Given the description of an element on the screen output the (x, y) to click on. 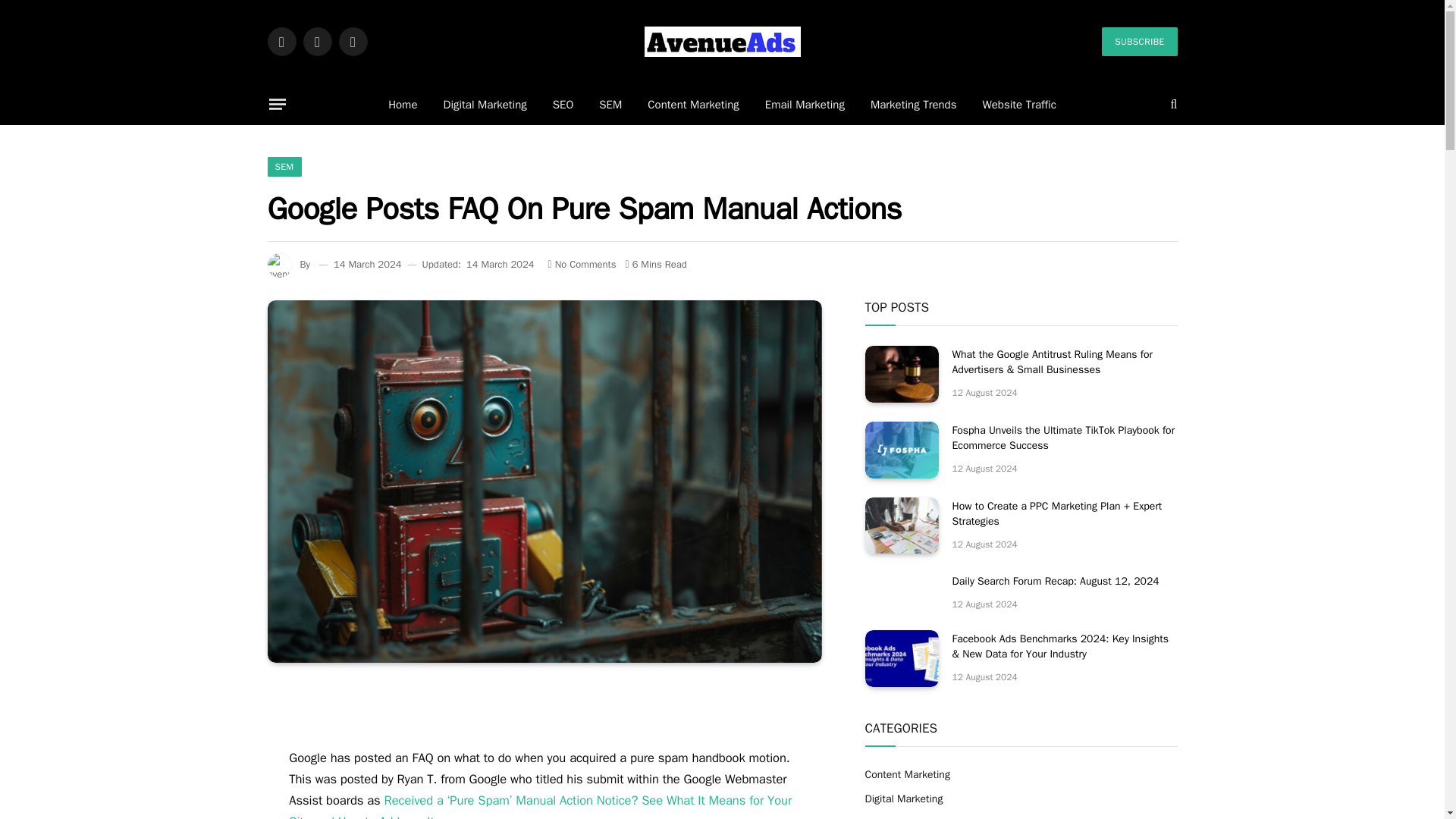
SUBSCRIBE (1139, 41)
Email Marketing (804, 104)
Content Marketing (692, 104)
SEM (283, 166)
No Comments (581, 264)
Instagram (351, 41)
Avenue Ads (722, 41)
SEM (610, 104)
Facebook (280, 41)
